Given the description of an element on the screen output the (x, y) to click on. 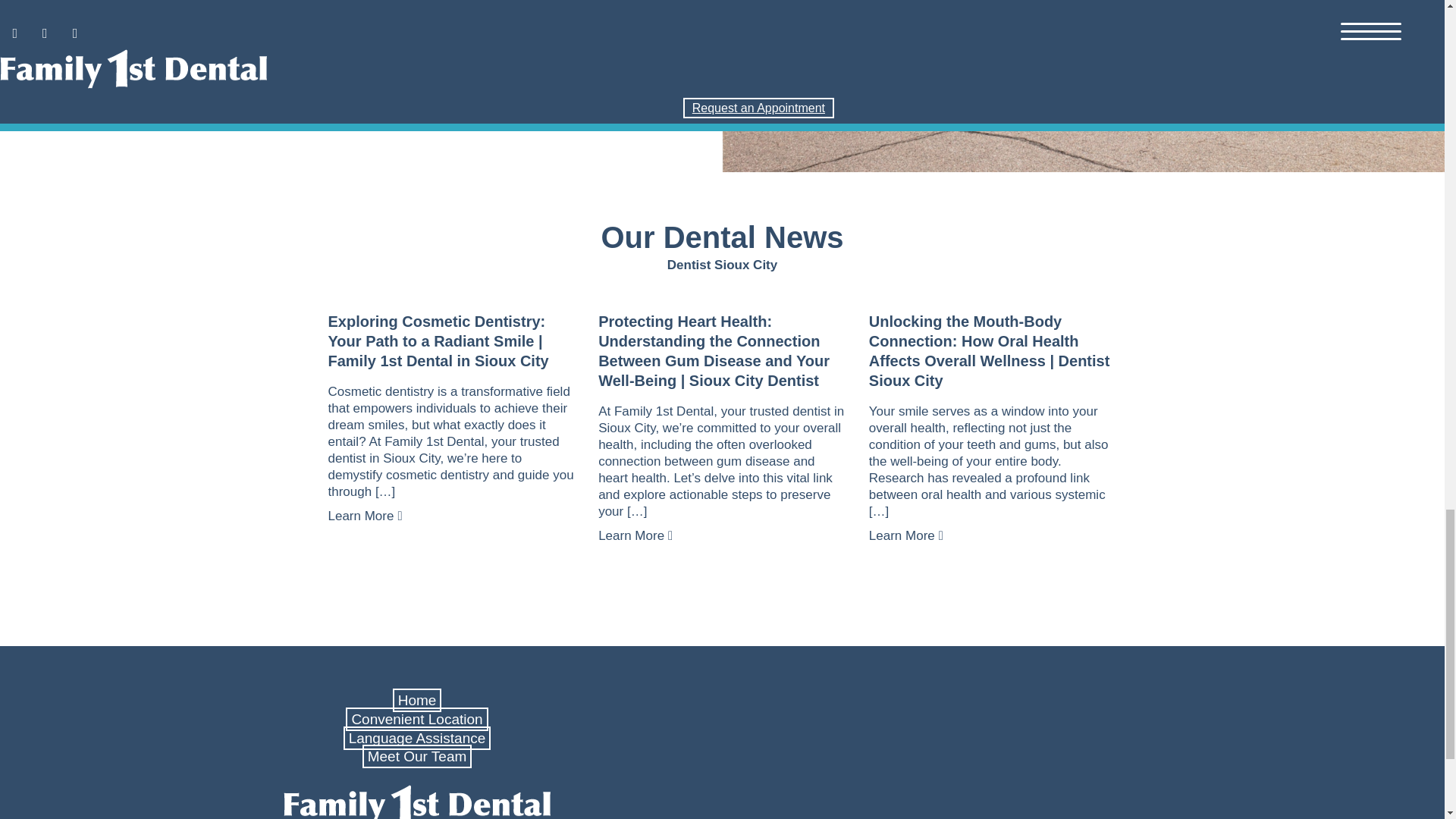
Convenient Locations (416, 719)
Home (417, 699)
